Given the description of an element on the screen output the (x, y) to click on. 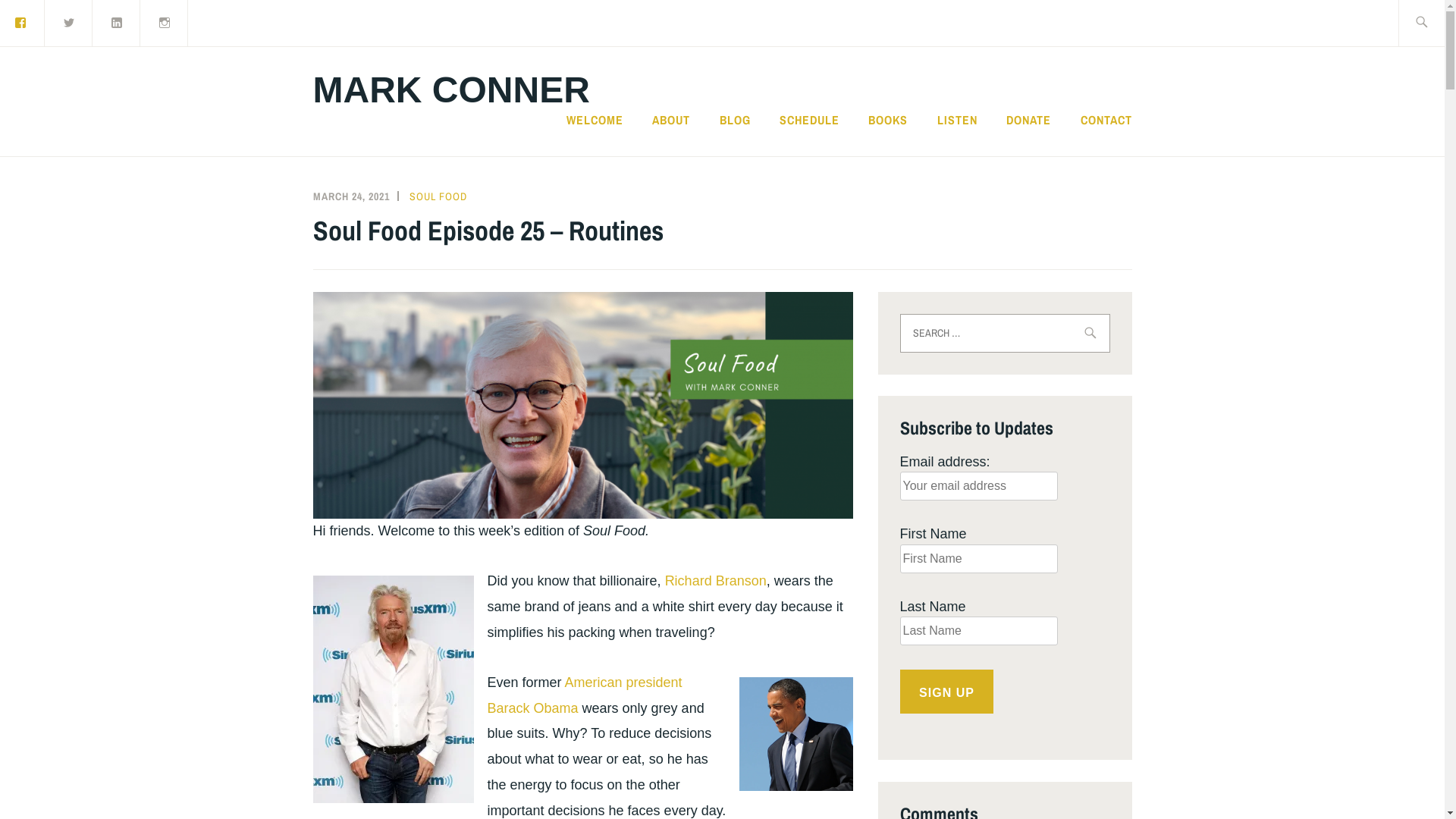
Search for: Element type: hover (1438, 23)
Search for: Element type: hover (1004, 332)
CONTACT Element type: text (1105, 119)
BLOG Element type: text (734, 119)
ABOUT Element type: text (671, 119)
Richard Branson Element type: text (715, 580)
Search Element type: text (47, 21)
MARK CONNER Element type: text (450, 89)
Twitter Element type: text (68, 21)
BOOKS Element type: text (887, 119)
American president Barack Obama Element type: text (583, 694)
LinkedIn Element type: text (116, 21)
DONATE Element type: text (1028, 119)
LISTEN Element type: text (957, 119)
Sign up Element type: text (946, 691)
SOUL FOOD Element type: text (438, 196)
SCHEDULE Element type: text (809, 119)
WELCOME Element type: text (594, 119)
MARCH 24, 2021 Element type: text (350, 196)
Instagram Element type: text (164, 21)
